Given the description of an element on the screen output the (x, y) to click on. 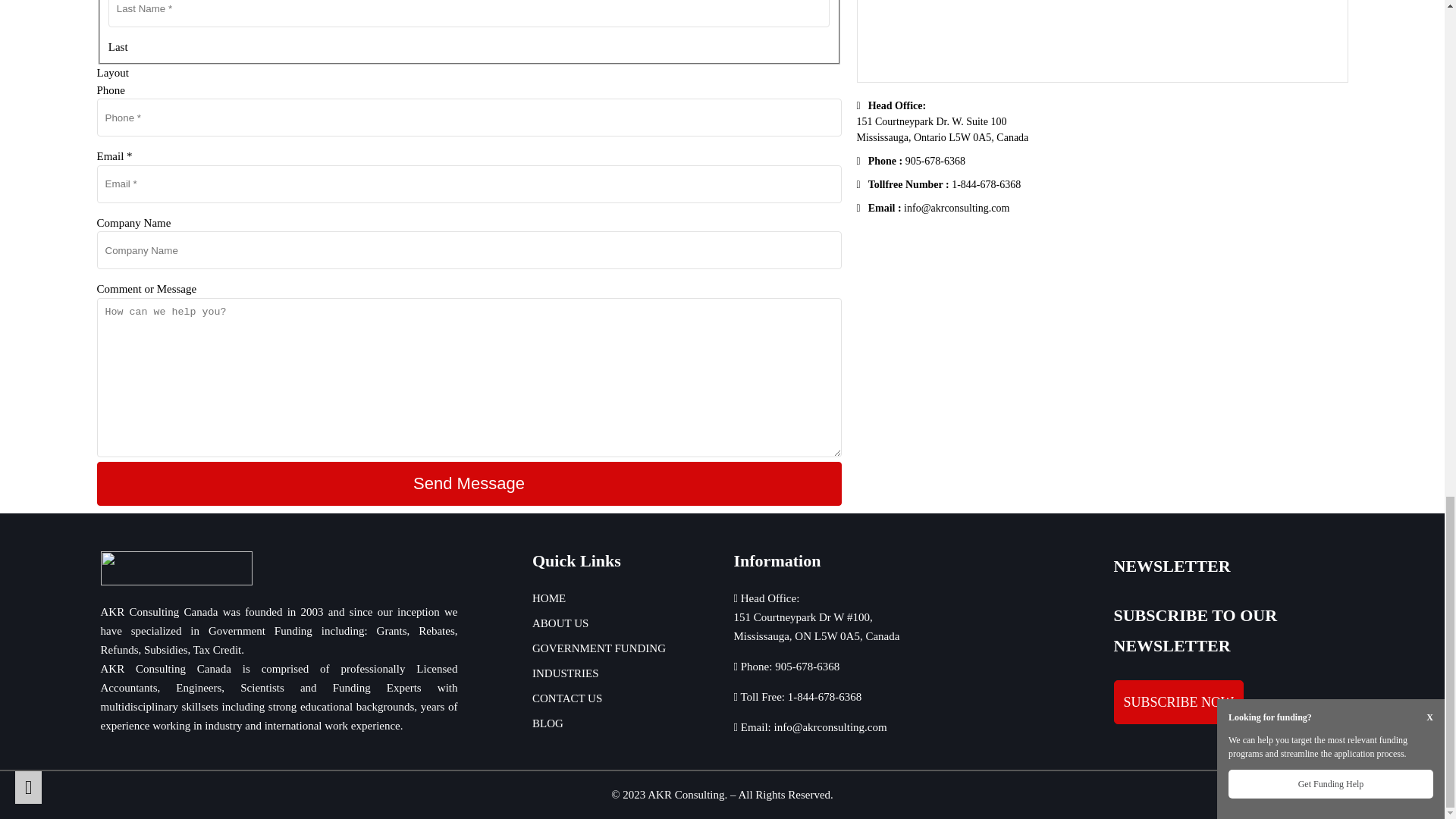
BLOG (547, 723)
CONTACT US (567, 698)
GOVERNMENT FUNDING (598, 648)
INDUSTRIES (565, 673)
Tollfree Number : 1-844-678-6368 (939, 184)
Phone : 905-678-6368 (911, 161)
Send Message (469, 483)
SUBSCRIBE NOW (1178, 701)
ABOUT US (560, 623)
